Given the description of an element on the screen output the (x, y) to click on. 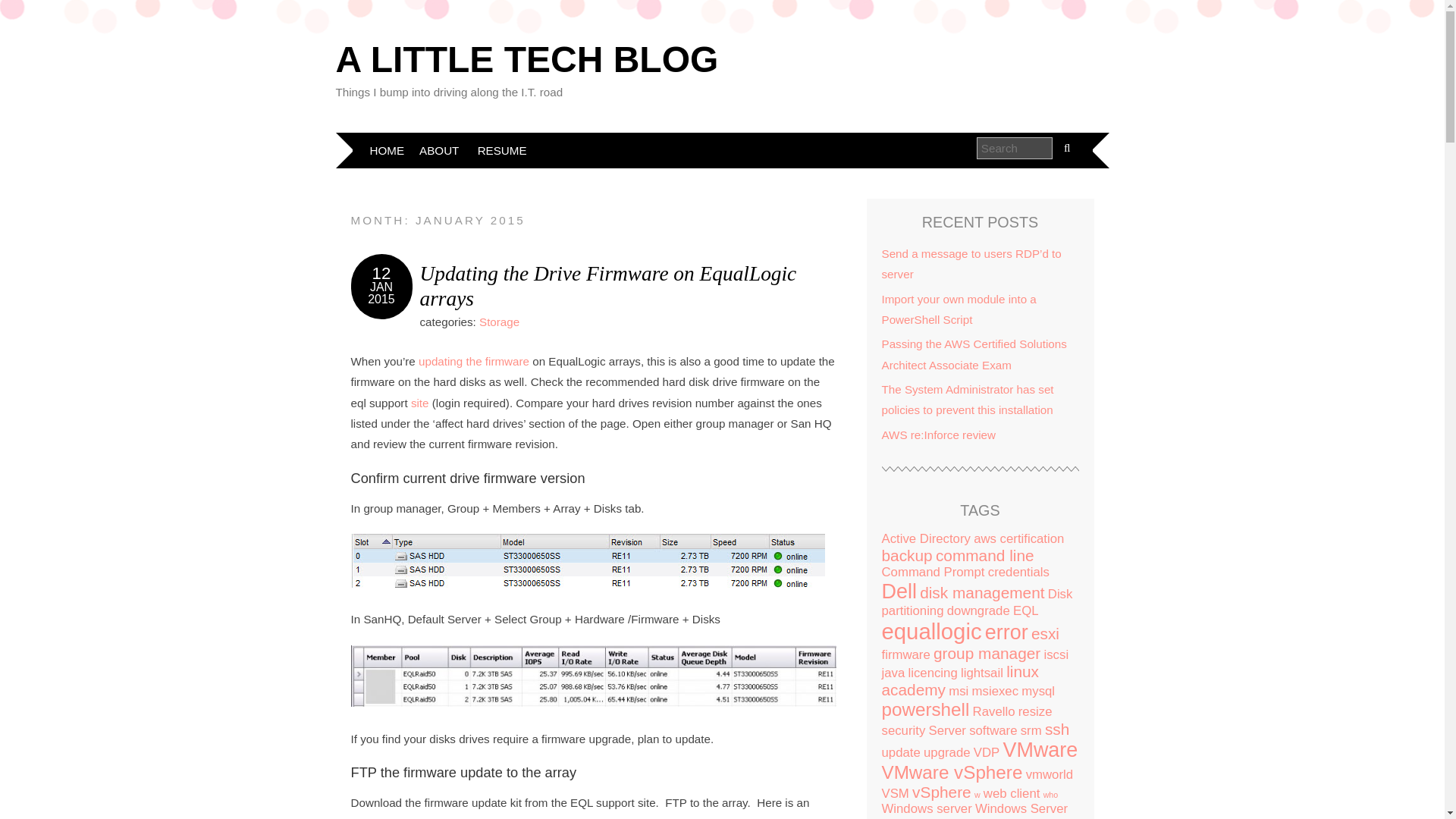
Updating the Drive Firmware on EqualLogic arrays (608, 286)
 Hard Disk Drive Firmware Update Utility v7.0 (421, 402)
ABOUT (438, 150)
Storage (499, 321)
A LITTLE TECH BLOG (525, 59)
12 (381, 272)
HOME (387, 150)
site (421, 402)
updating the firmware (474, 360)
RESUME (502, 150)
